Given the description of an element on the screen output the (x, y) to click on. 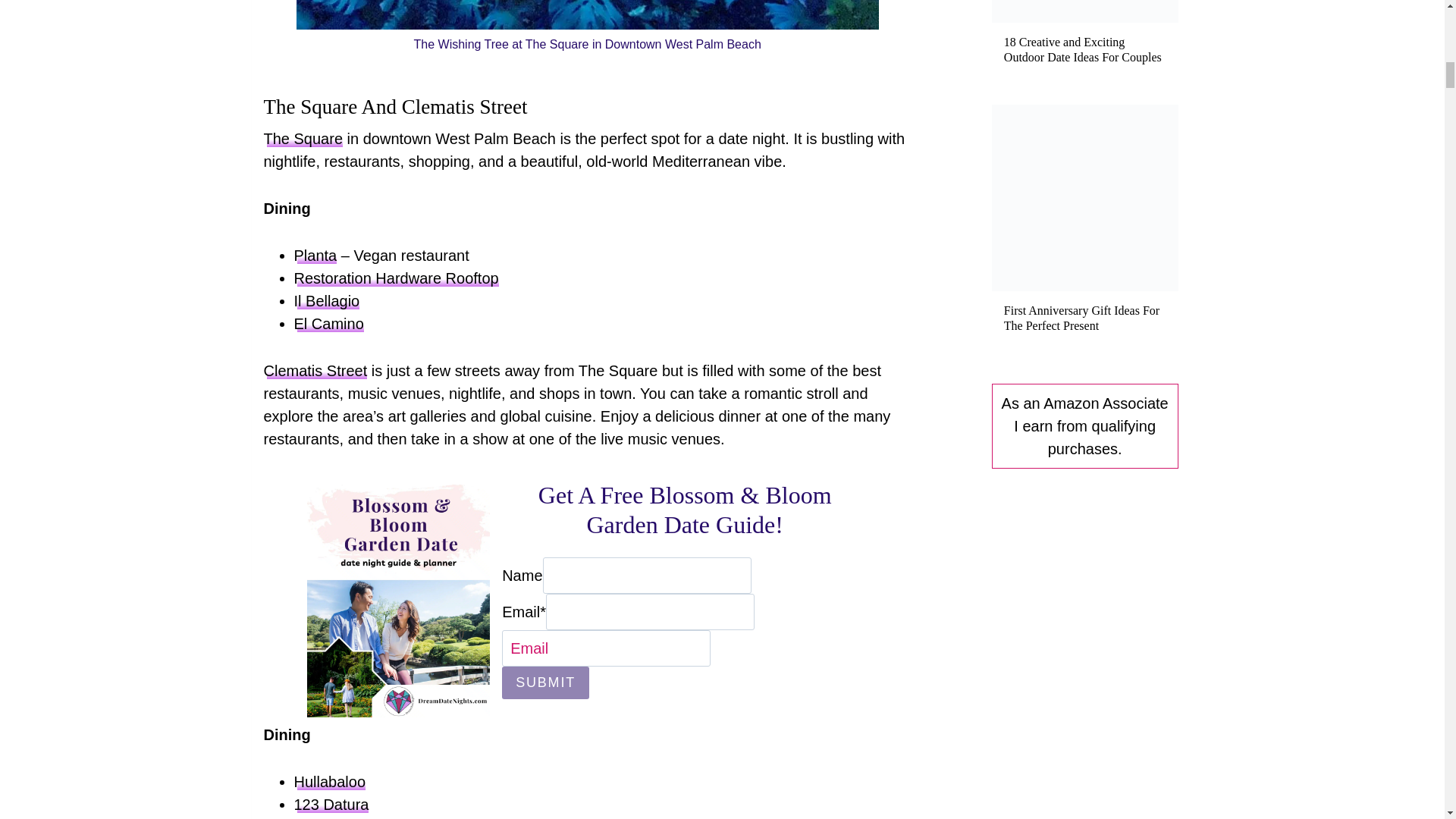
El Camino (329, 323)
The Square (303, 138)
Restoration Hardware Rooftop (396, 278)
SUBMIT (545, 682)
123 Datura (331, 804)
Planta (315, 255)
Hullabaloo (330, 781)
Il Bellagio (326, 300)
Clematis Street (315, 370)
